Given the description of an element on the screen output the (x, y) to click on. 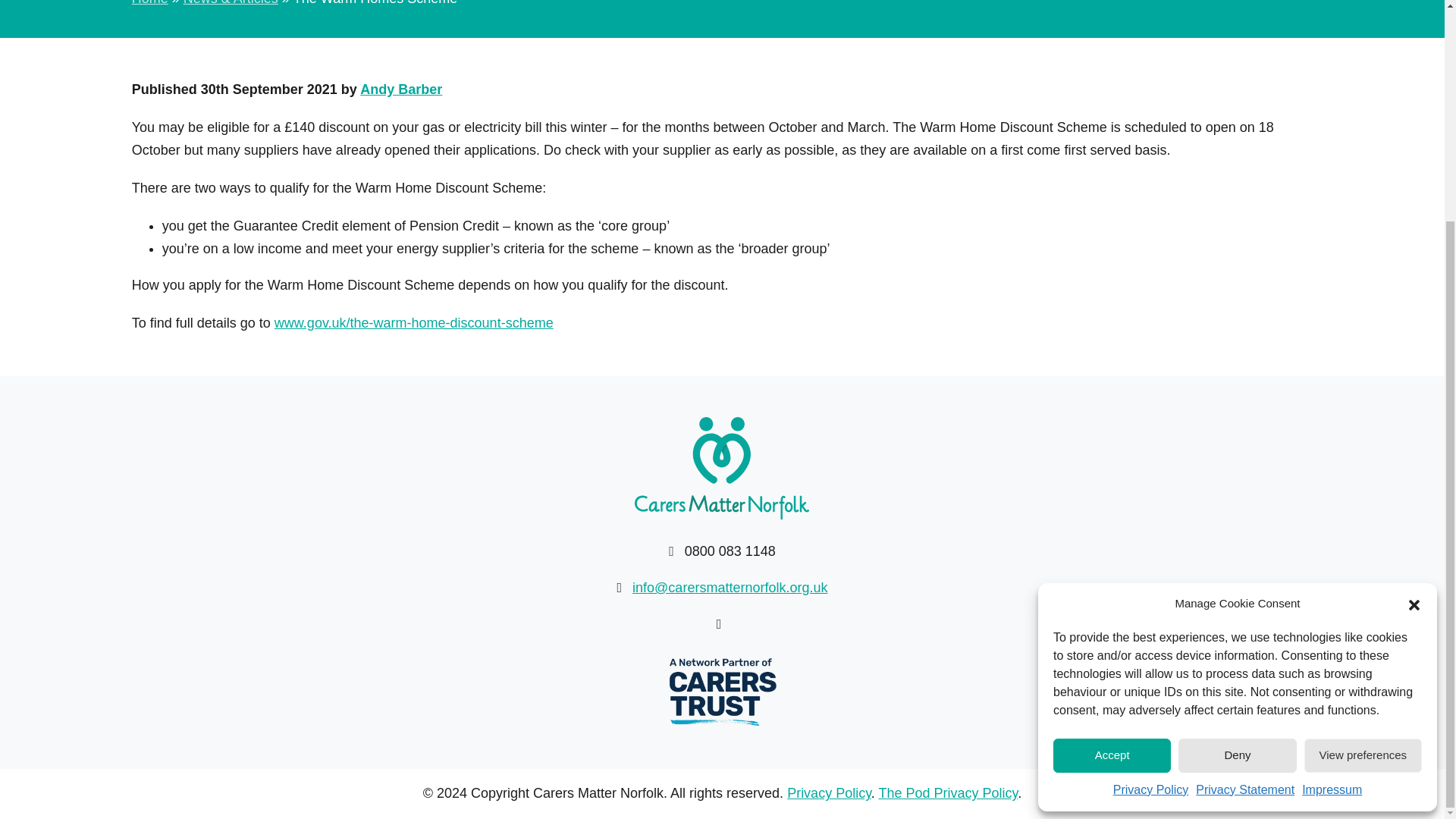
Privacy Policy (1151, 496)
Accept (1111, 462)
Impressum (1331, 496)
Privacy Statement (1244, 496)
View preferences (1363, 462)
Deny (1236, 462)
